Given the description of an element on the screen output the (x, y) to click on. 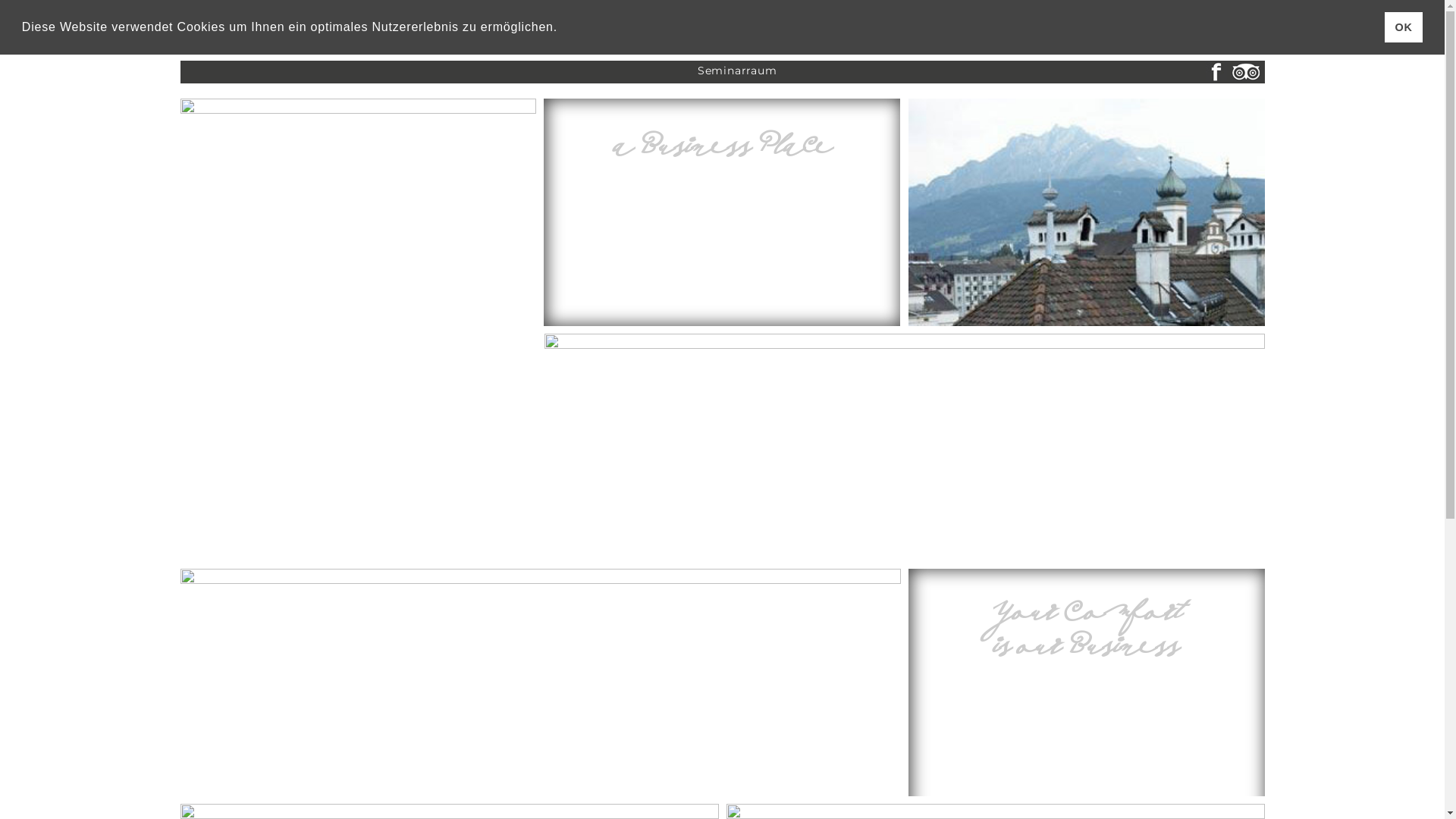
Rooms Element type: text (618, 27)
weiterlesen Element type: text (722, 280)
Hotel Element type: text (561, 27)
Reservation Seminarraum Element type: text (1086, 687)
Contact Element type: text (964, 27)
Seminarraum Element type: text (737, 70)
Events Element type: text (773, 27)
OK Element type: text (1403, 27)
Food & Drink Element type: text (696, 27)
Booking Element type: text (896, 27)
Gallery Element type: text (832, 27)
